Given the description of an element on the screen output the (x, y) to click on. 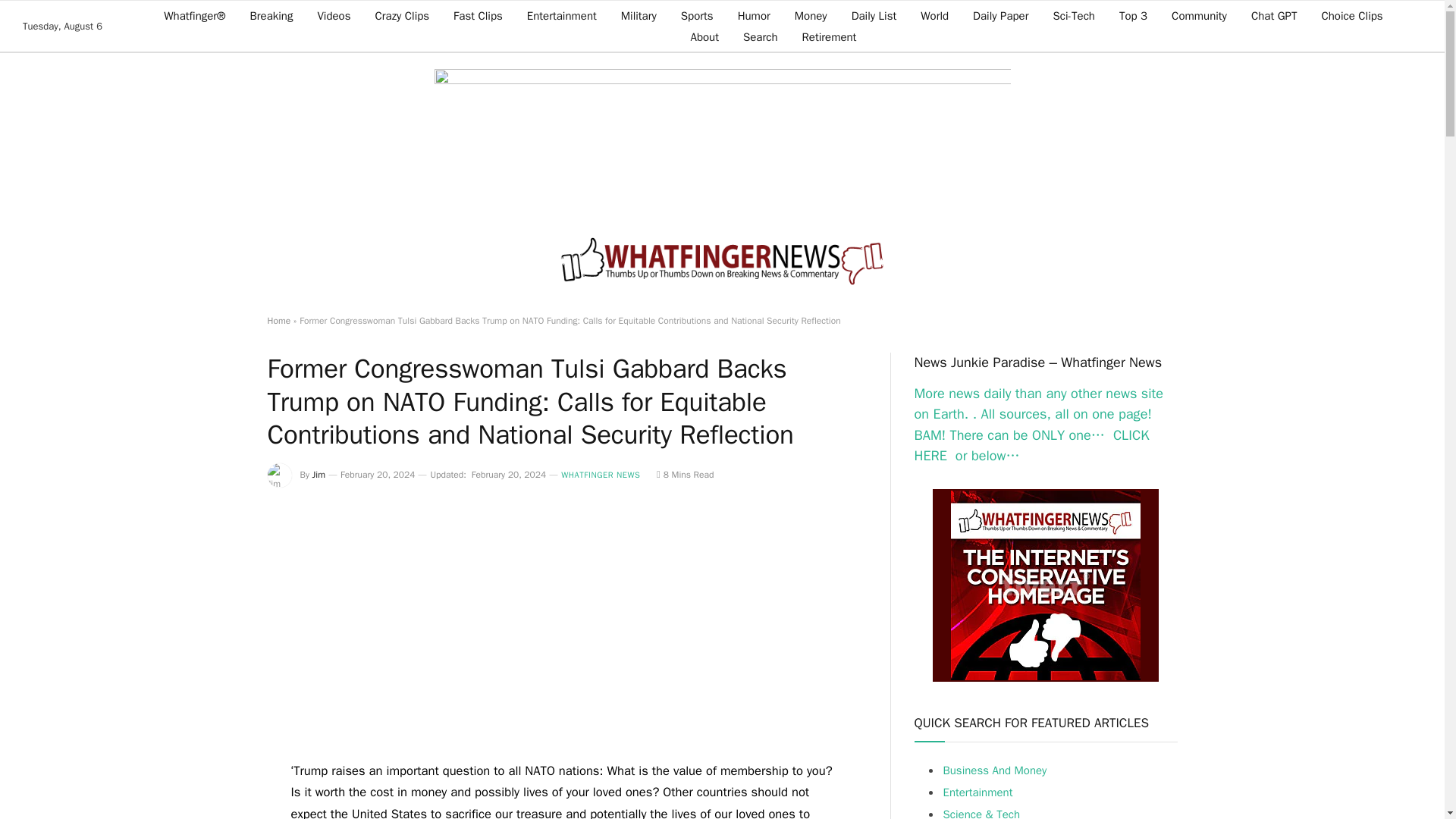
Daily Paper (1000, 14)
Military (638, 14)
Humor (754, 14)
Entertainment (561, 14)
Sci-Tech (1073, 14)
Whatfinger News Summary (721, 263)
Sports (696, 14)
Videos (333, 14)
Crazy Clips (401, 14)
Daily List (874, 14)
Fast Clips (478, 14)
Breaking (271, 14)
World (934, 14)
Money (811, 14)
